Given the description of an element on the screen output the (x, y) to click on. 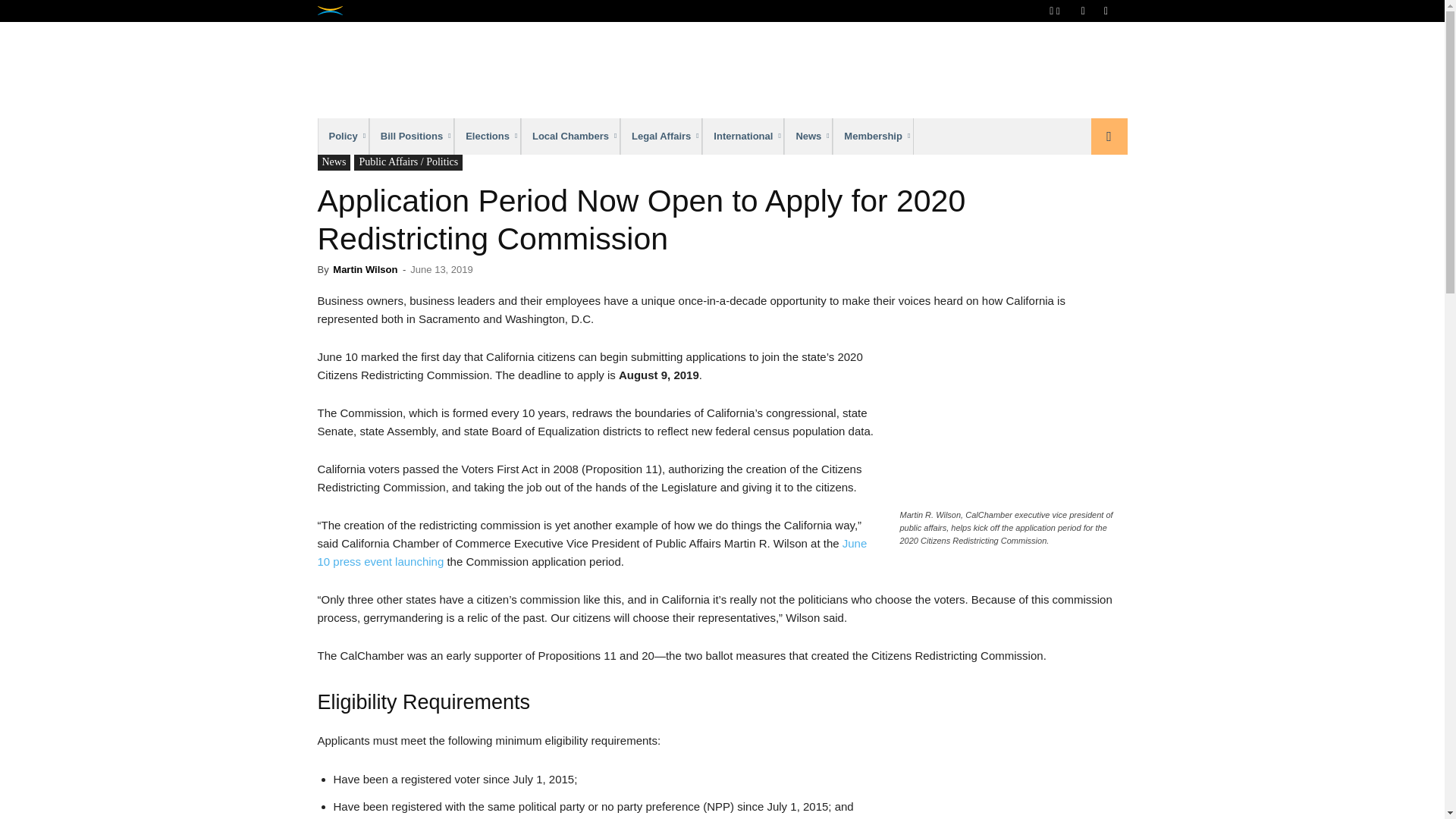
Contact (1102, 10)
